Given the description of an element on the screen output the (x, y) to click on. 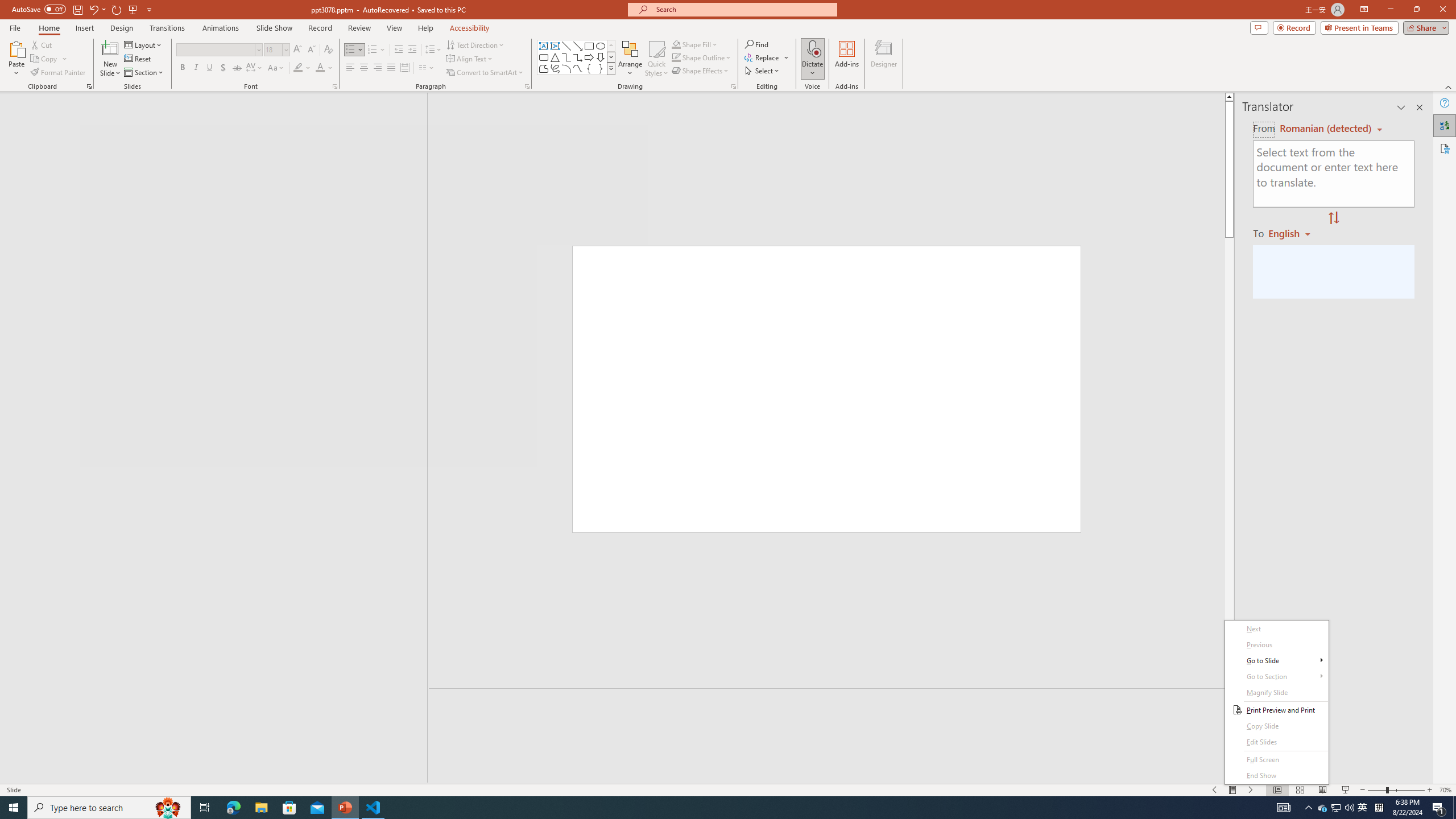
AutomationID: 4105 (1283, 807)
Format Painter (58, 72)
Shape Effects (700, 69)
New Slide (110, 48)
Type here to search (108, 807)
Convert to SmartArt (485, 72)
Clear Formatting (327, 49)
Go to Slide (1276, 660)
Slide Show Previous On (1214, 790)
Select (762, 69)
Slide Notes (831, 705)
